Given the description of an element on the screen output the (x, y) to click on. 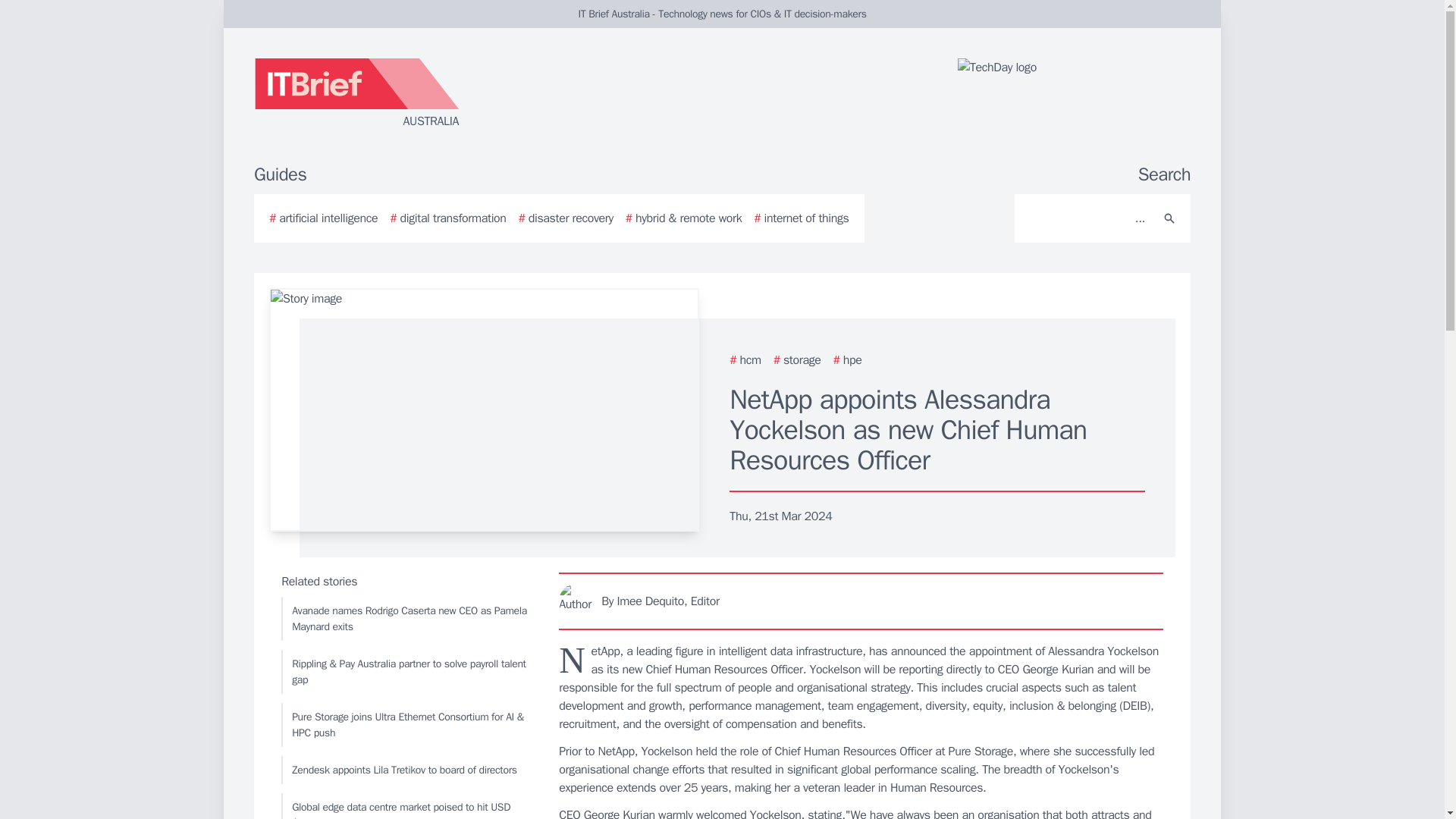
AUSTRALIA (435, 94)
Zendesk appoints Lila Tretikov to board of directors (406, 769)
By Imee Dequito, Editor (861, 601)
